Given the description of an element on the screen output the (x, y) to click on. 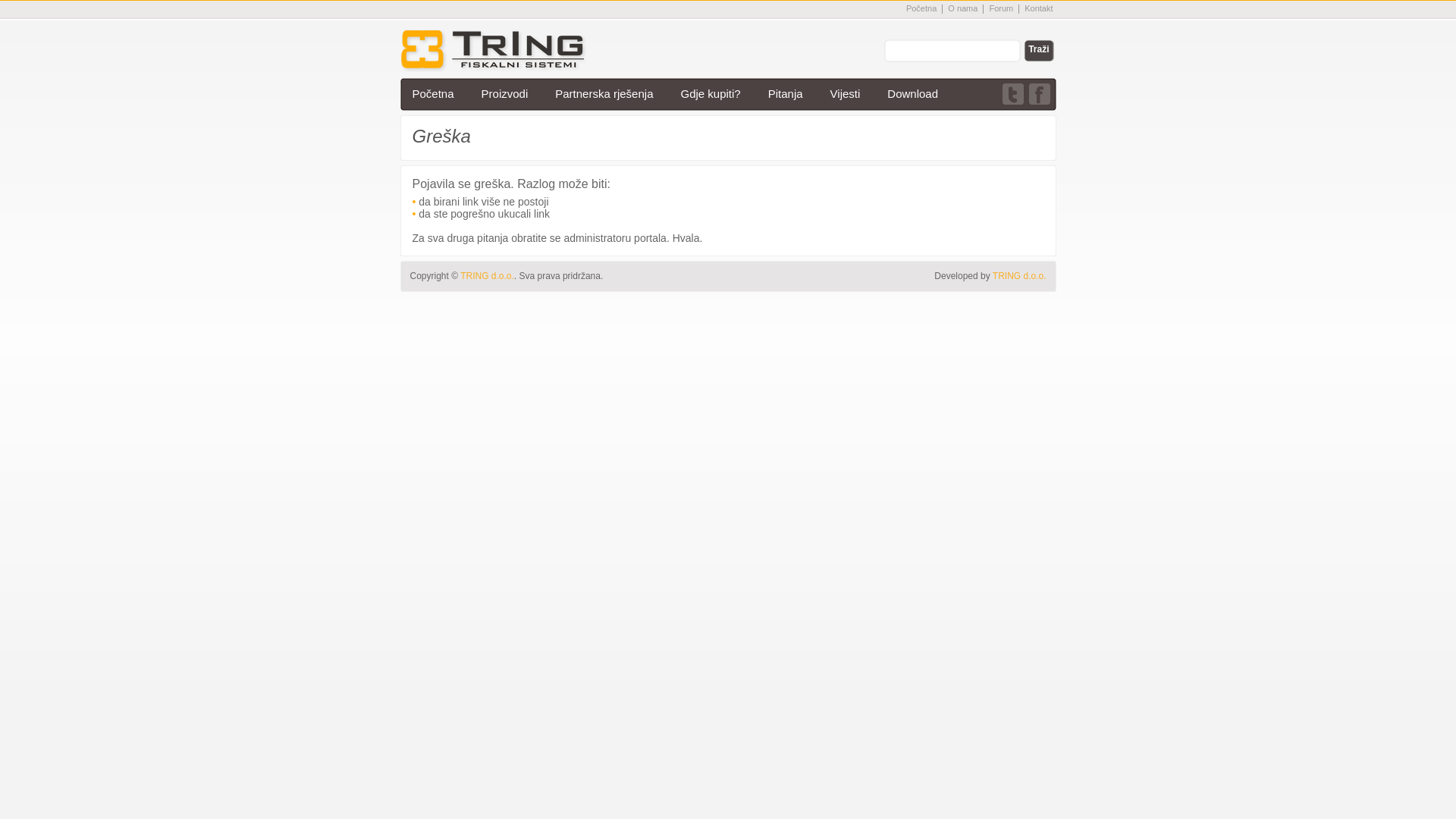
Kontakt Element type: text (1038, 8)
TRING d.o.o. Element type: text (1019, 275)
Forum Element type: text (1000, 8)
Gdje kupiti? Element type: text (709, 94)
Download Element type: text (912, 94)
Pitanja Element type: text (785, 94)
Proizvodi Element type: text (504, 94)
O nama Element type: text (962, 8)
Vijesti Element type: text (845, 94)
